Given the description of an element on the screen output the (x, y) to click on. 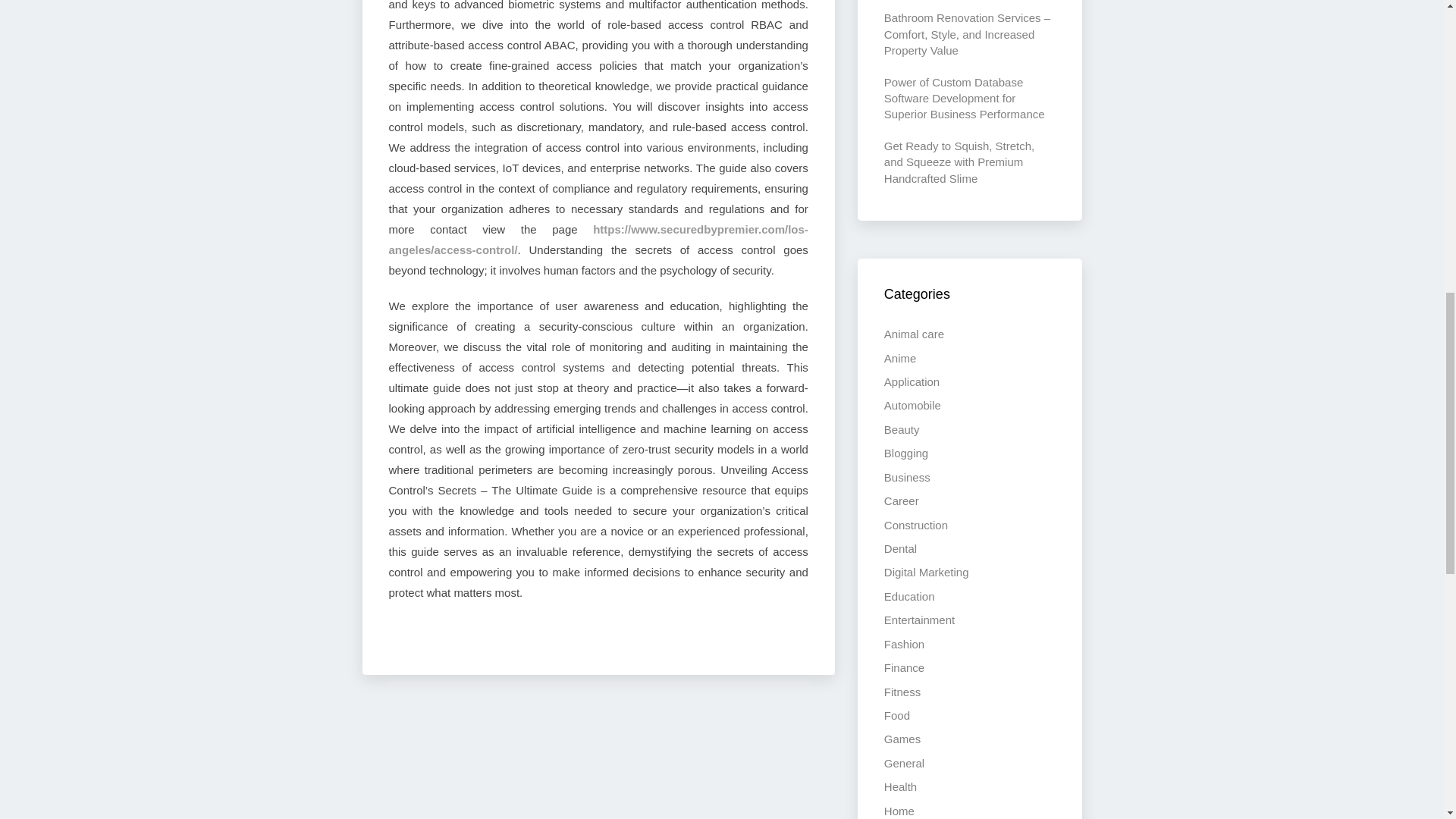
Automobile (911, 404)
Fitness (901, 691)
Career (900, 500)
Blogging (905, 452)
Application (911, 381)
Business (906, 477)
Animal care (913, 333)
Games (901, 738)
Dental (900, 548)
Health (900, 786)
Food (896, 715)
Fashion (903, 644)
Beauty (901, 429)
